Given the description of an element on the screen output the (x, y) to click on. 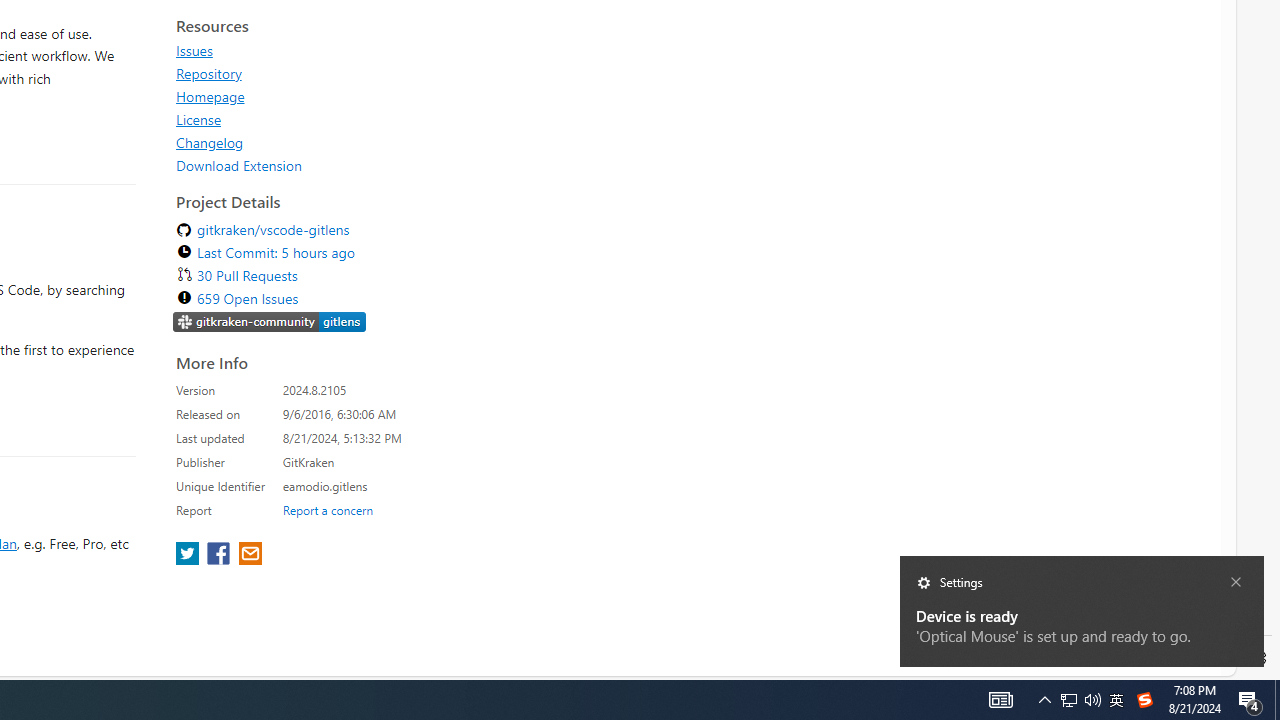
License (198, 119)
License (358, 119)
https://slack.gitkraken.com// (269, 323)
Changelog (210, 142)
Download Extension (239, 165)
https://slack.gitkraken.com// (269, 321)
